Given the description of an element on the screen output the (x, y) to click on. 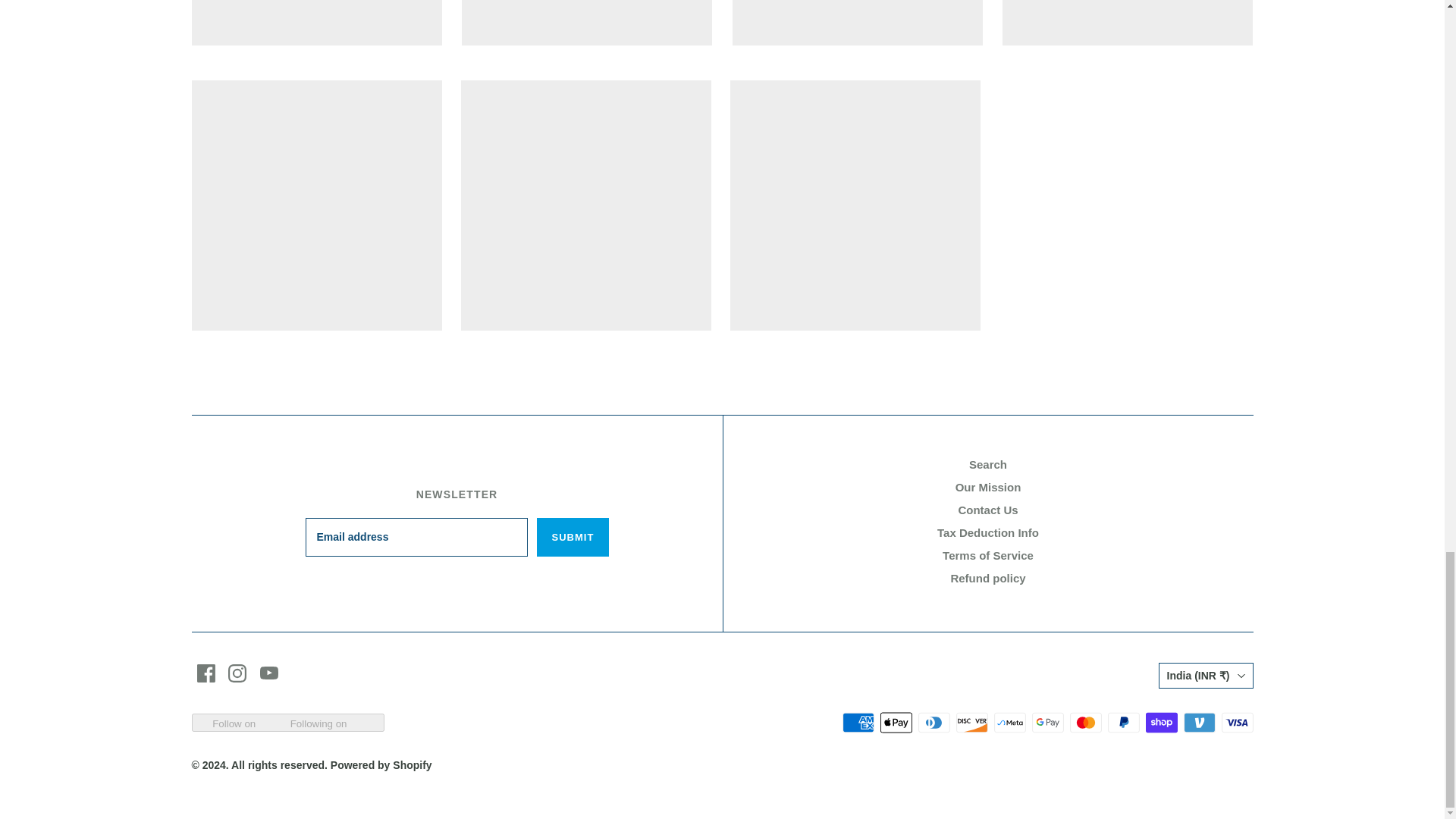
Mastercard (1084, 722)
American Express (857, 722)
Apple Pay (895, 722)
Meta Pay (1008, 722)
Diners Club (933, 722)
Google Pay (1046, 722)
Discover (971, 722)
